Given the description of an element on the screen output the (x, y) to click on. 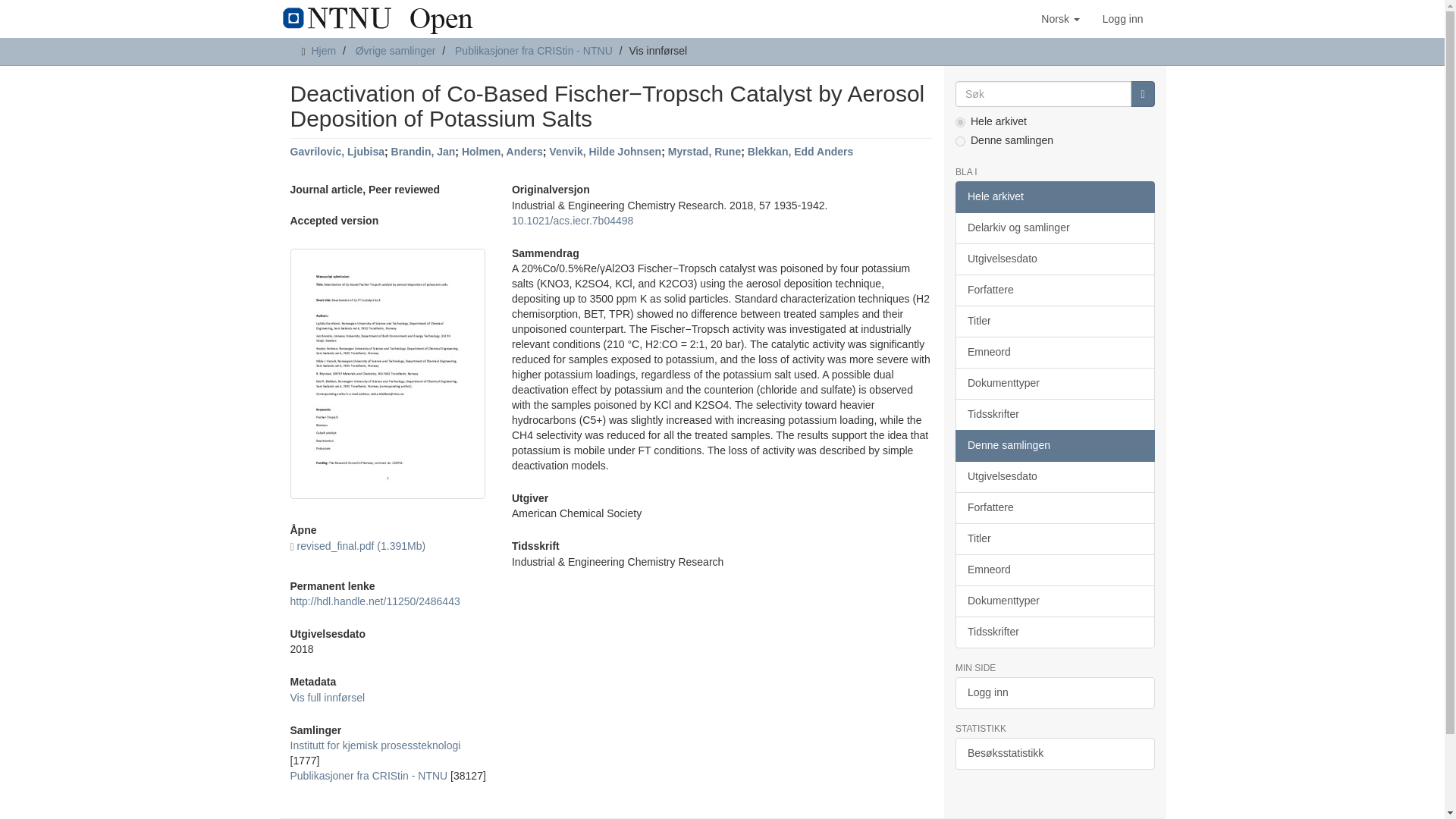
Hjem (323, 50)
Holmen, Anders (502, 151)
Norsk  (1059, 18)
Venvik, Hilde Johnsen (604, 151)
Gavrilovic, Ljubisa (336, 151)
Blekkan, Edd Anders (800, 151)
Logg inn (1122, 18)
Brandin, Jan (423, 151)
Hele arkivet (1054, 196)
Publikasjoner fra CRIStin - NTNU (367, 775)
Publikasjoner fra CRIStin - NTNU (533, 50)
Institutt for kjemisk prosessteknologi (374, 745)
Myrstad, Rune (704, 151)
